Given the description of an element on the screen output the (x, y) to click on. 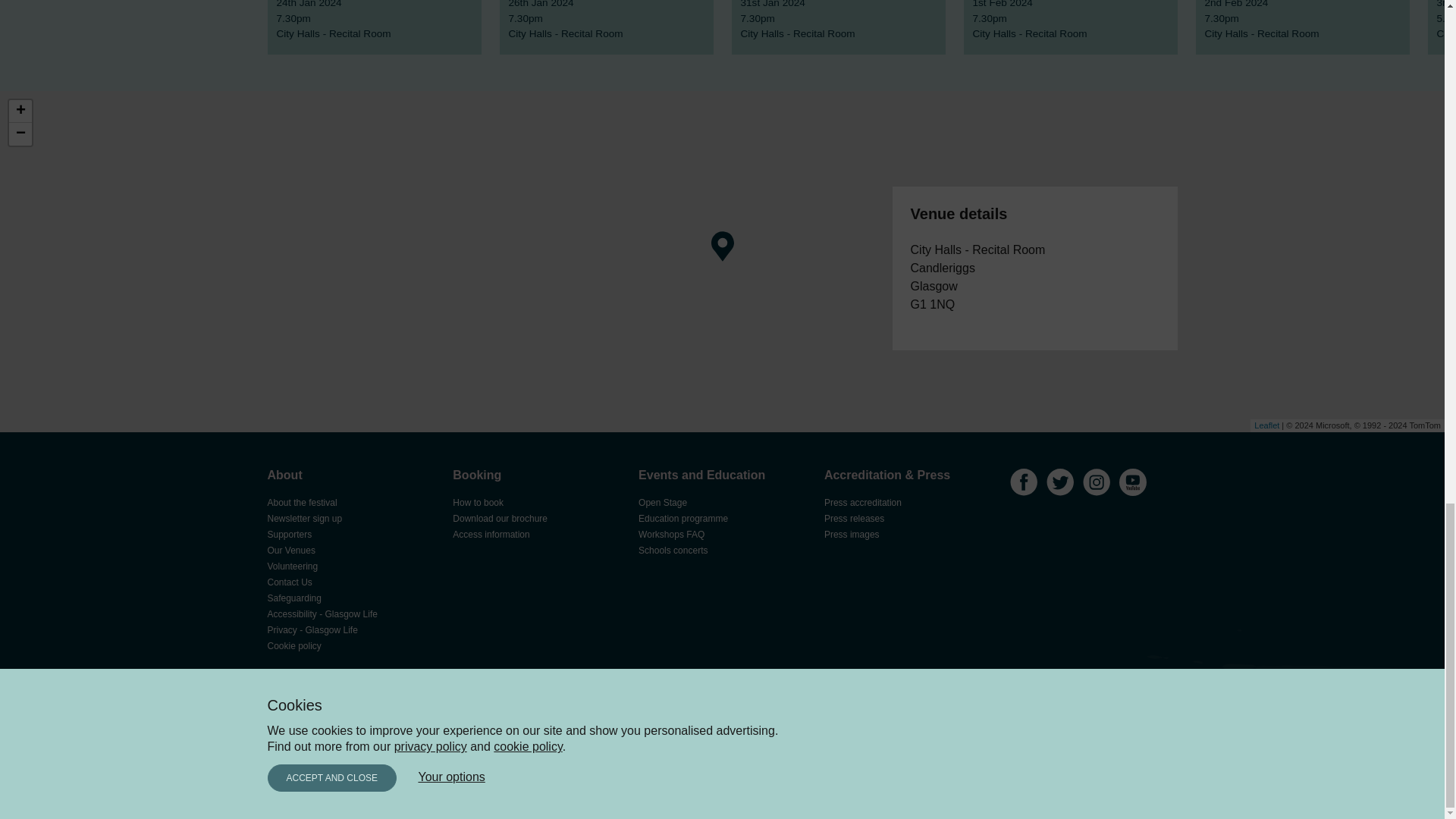
Celtic Connections Twitter, opens in a new window (1060, 484)
Zoom in (20, 110)
Celtic Connections YouTube channel, opens in a new window (1133, 484)
Celtic Connections Instagram, opens in a new window (1096, 484)
Zoom out (20, 133)
Celtic Connections Facebook, opens in a new window (1023, 484)
A JS library for interactive maps (1266, 424)
